Given the description of an element on the screen output the (x, y) to click on. 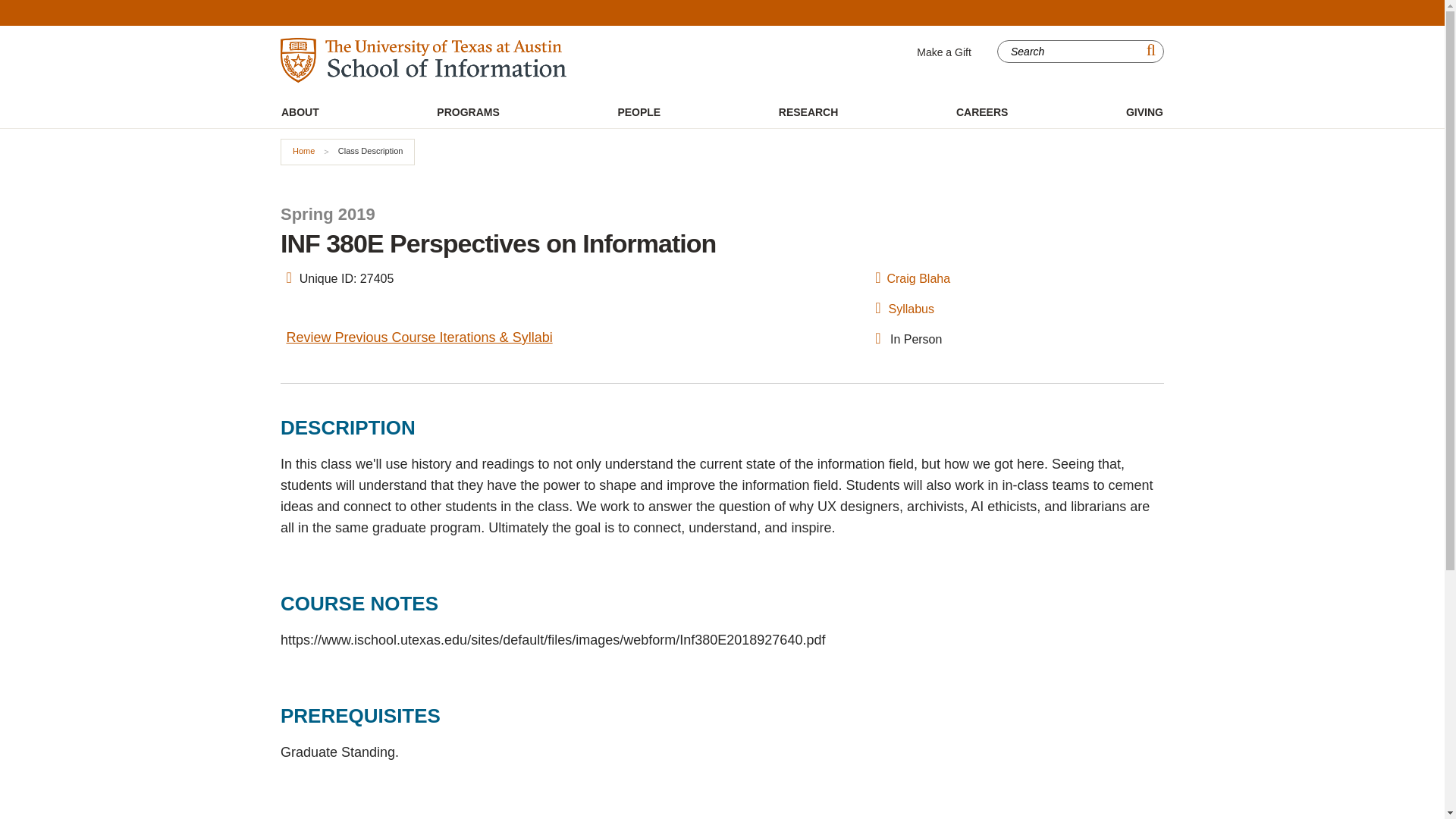
RESEARCH (808, 112)
ABOUT (300, 112)
PEOPLE (638, 112)
UT iSchool (423, 60)
University of Texas at Austin Home (1120, 12)
Search this site (1071, 51)
PROGRAMS (467, 112)
Make a Gift (944, 51)
